Given the description of an element on the screen output the (x, y) to click on. 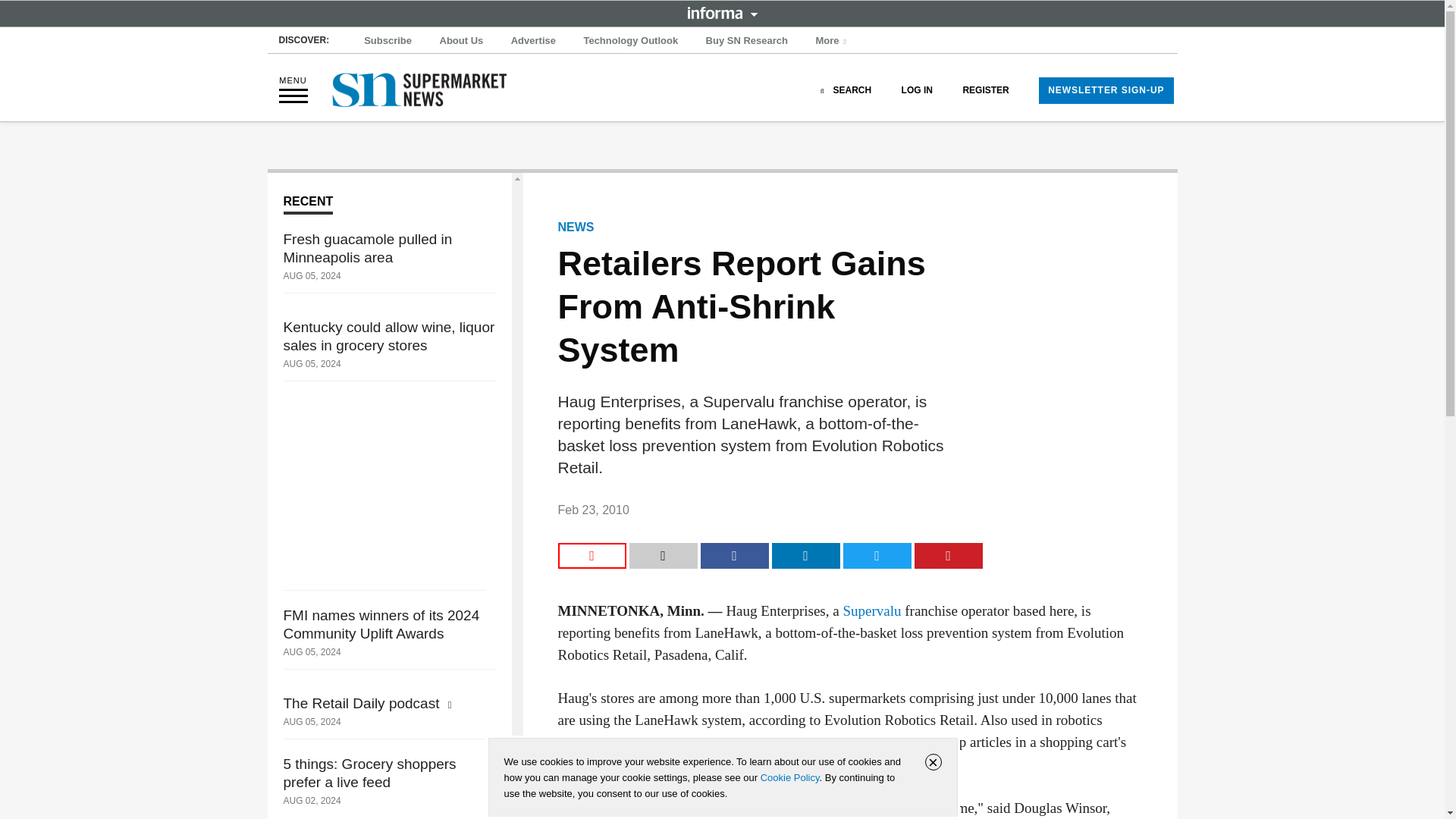
More (832, 41)
Technology Outlook (630, 41)
Advertise (533, 41)
INFORMA (722, 12)
Subscribe (387, 41)
Buy SN Research (746, 41)
Cookie Policy (789, 777)
About Us (461, 41)
